Given the description of an element on the screen output the (x, y) to click on. 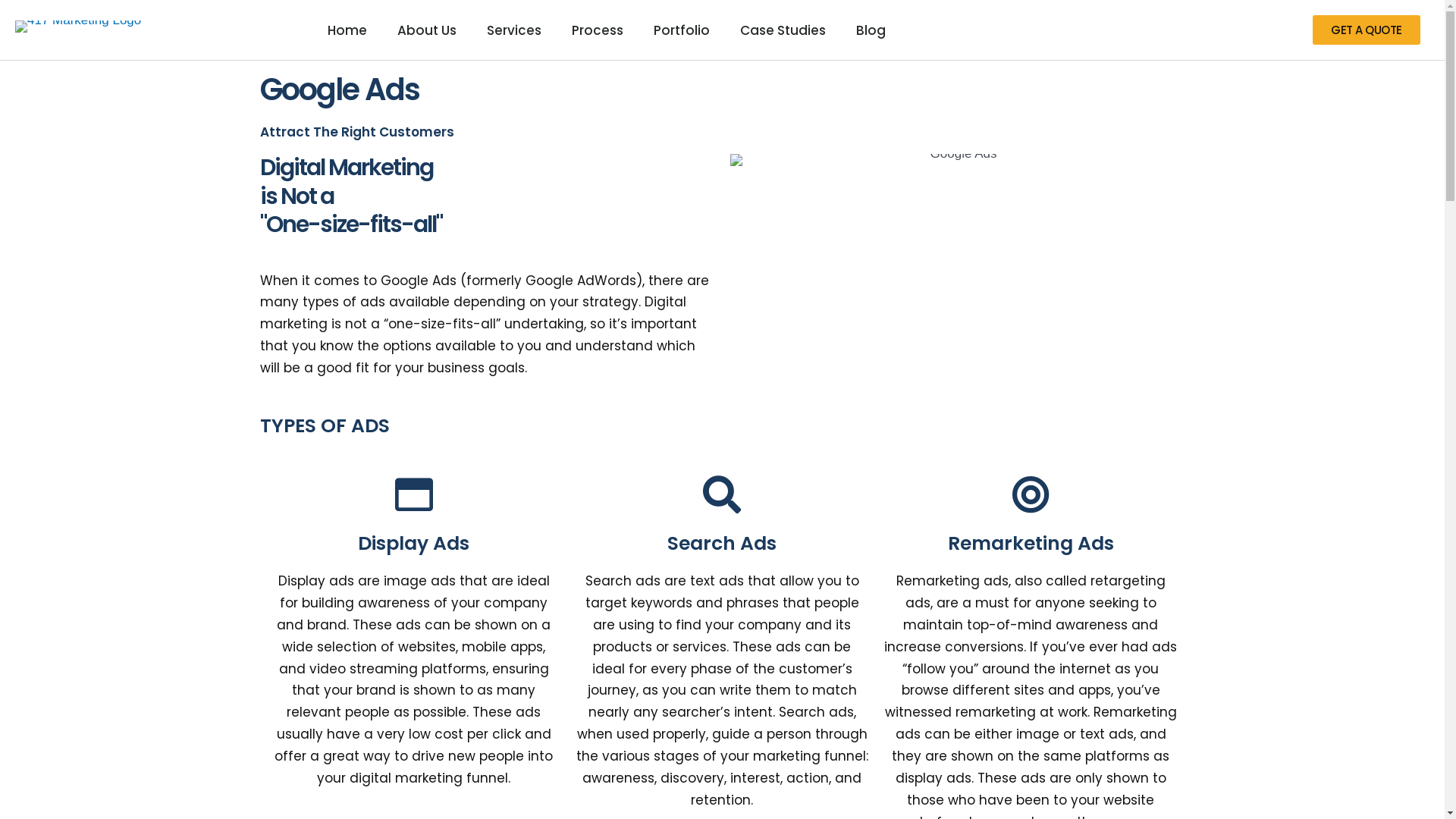
Services Element type: text (513, 29)
Process Element type: text (597, 29)
Case Studies Element type: text (782, 29)
Blog Element type: text (870, 29)
About Us Element type: text (426, 29)
Portfolio Element type: text (681, 29)
GET A QUOTE Element type: text (1366, 29)
Home Element type: text (347, 29)
